Given the description of an element on the screen output the (x, y) to click on. 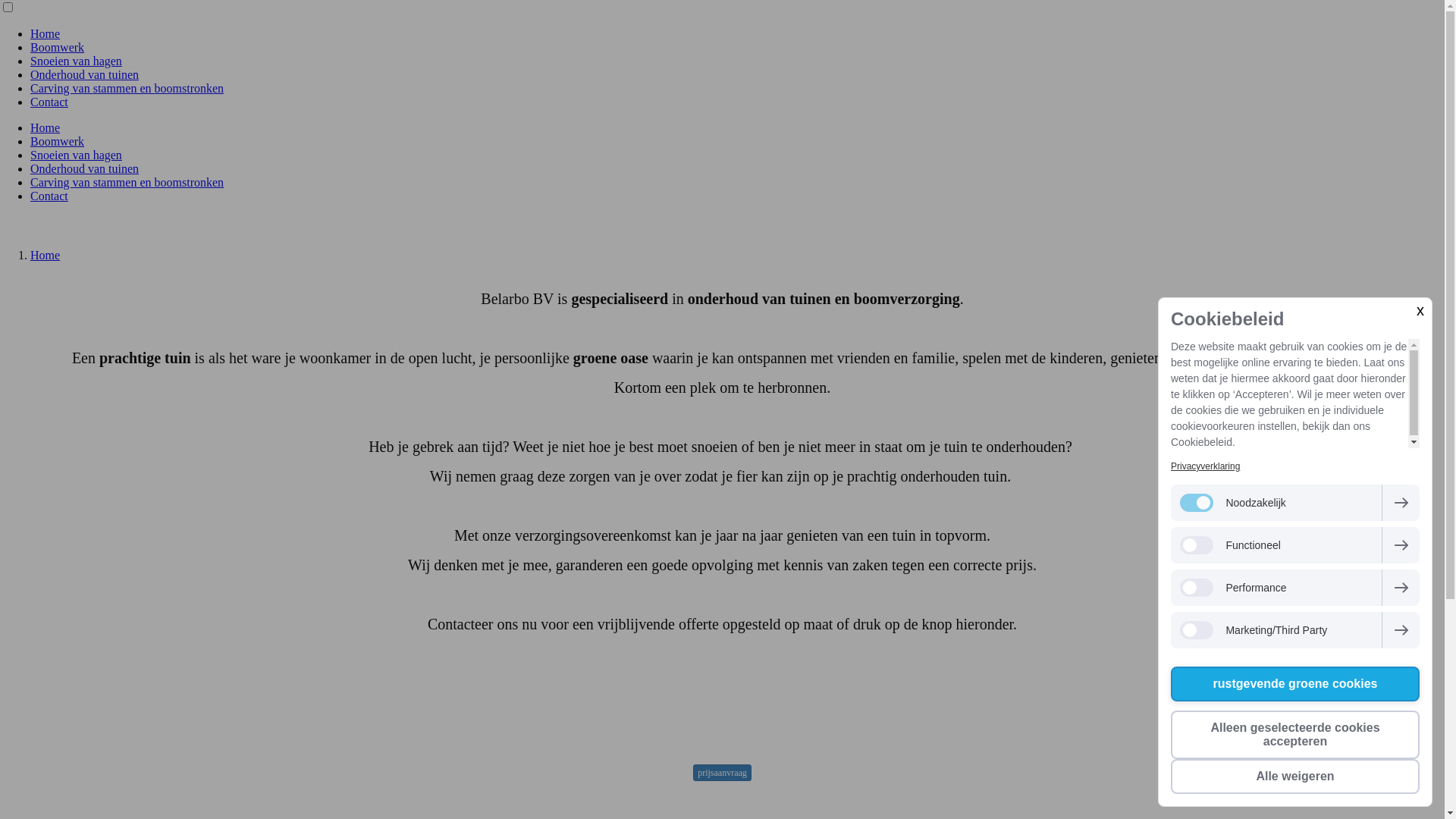
Onderhoud van tuinen Element type: text (84, 74)
Boomwerk Element type: text (57, 46)
Alle weigeren Element type: text (1294, 776)
Onderhoud van tuinen Element type: text (84, 168)
Contact Element type: text (49, 101)
Snoeien van hagen Element type: text (76, 154)
Boomwerk Element type: text (57, 140)
Alleen geselecteerde cookies accepteren Element type: text (1294, 734)
Carving van stammen en boomstronken Element type: text (126, 87)
Carving van stammen en boomstronken Element type: text (126, 181)
Home Element type: text (44, 33)
prijsaanvraag Element type: text (722, 772)
Home Element type: text (44, 254)
Privacyverklaring Element type: text (1204, 466)
Contact Element type: text (49, 195)
rustgevende groene cookies Element type: text (1294, 683)
Home Element type: text (44, 127)
Snoeien van hagen Element type: text (76, 60)
